Given the description of an element on the screen output the (x, y) to click on. 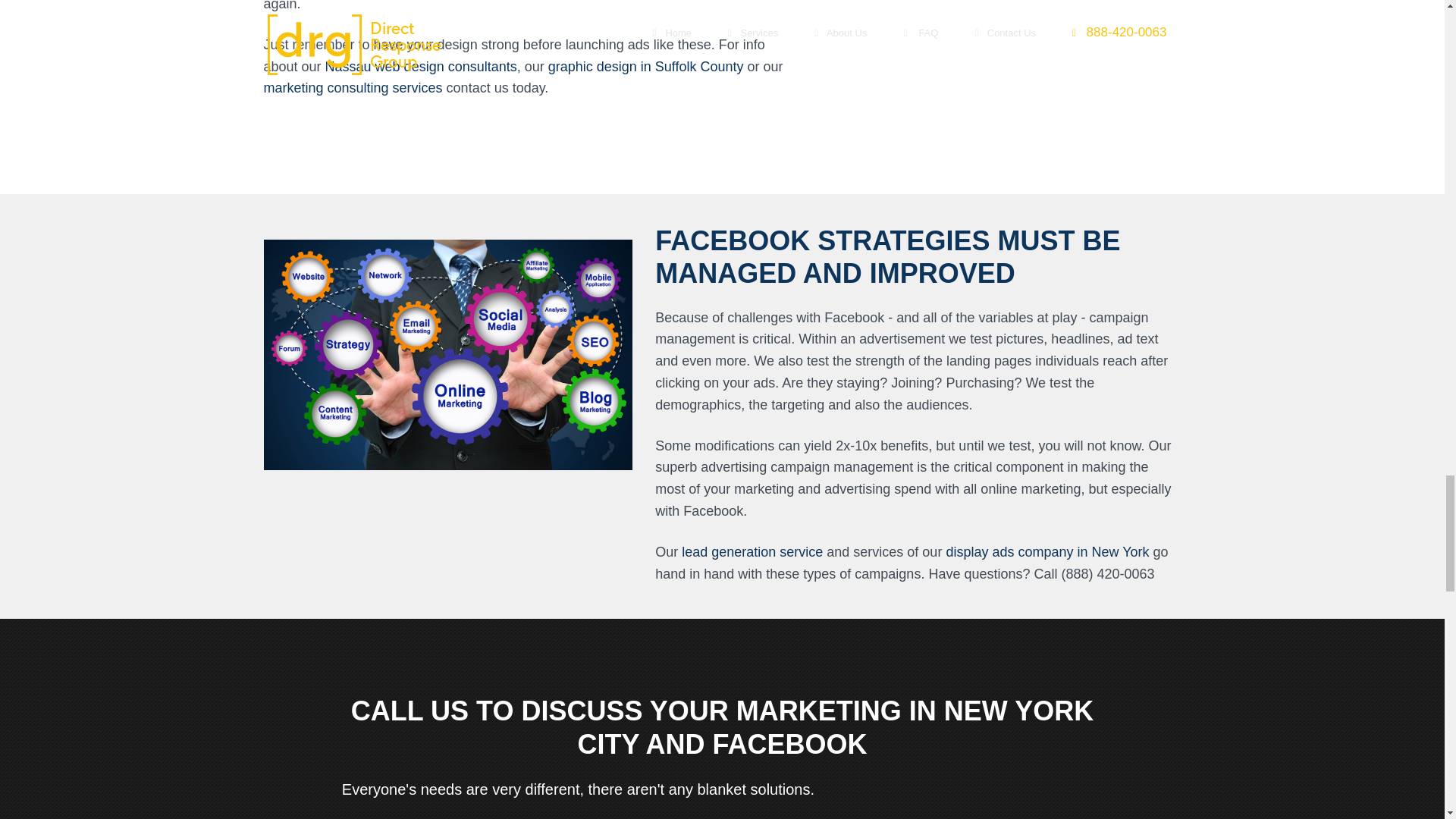
social media marketing with facebook In New York City (448, 354)
